Given the description of an element on the screen output the (x, y) to click on. 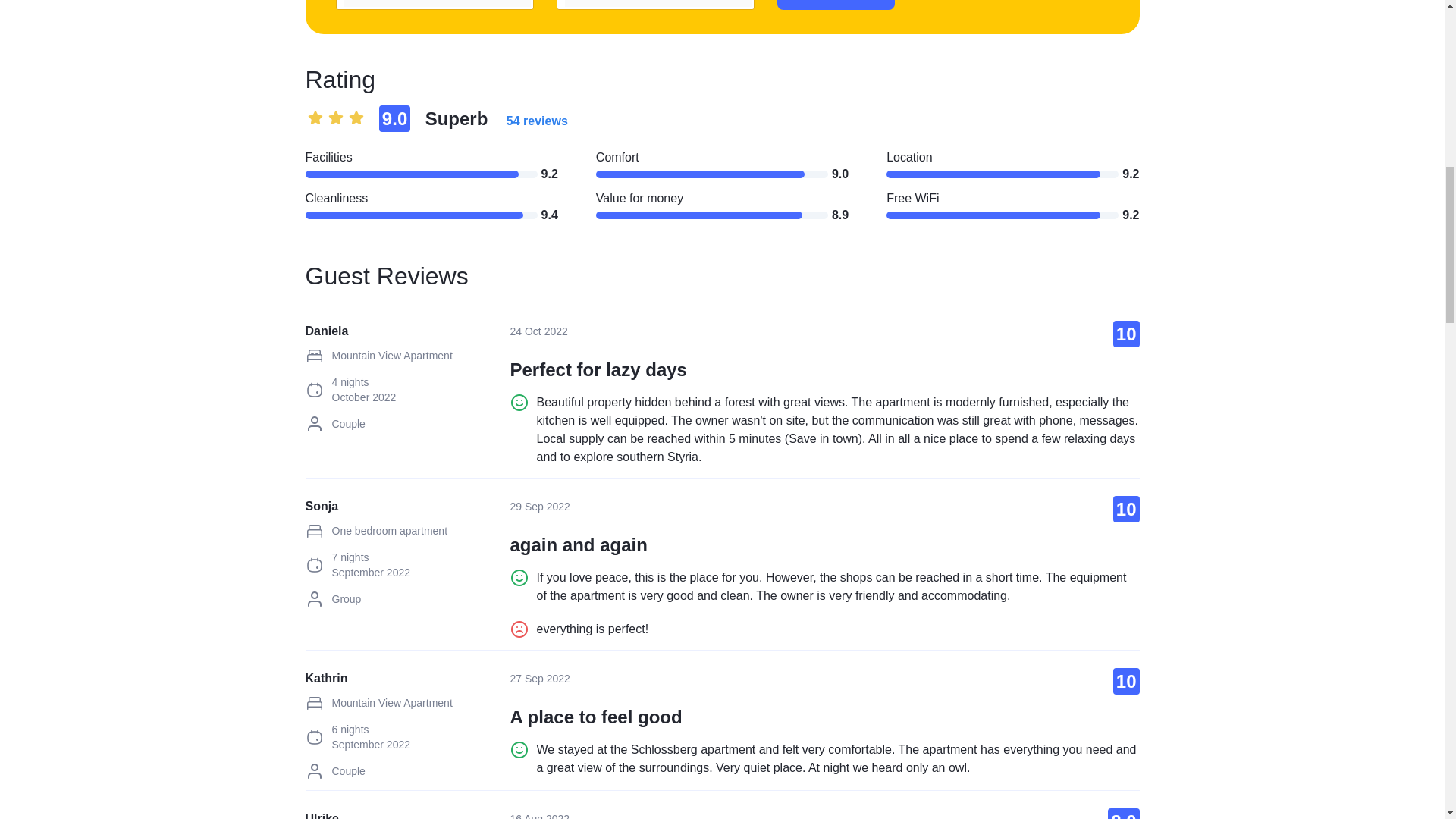
Check prices (835, 4)
